Given the description of an element on the screen output the (x, y) to click on. 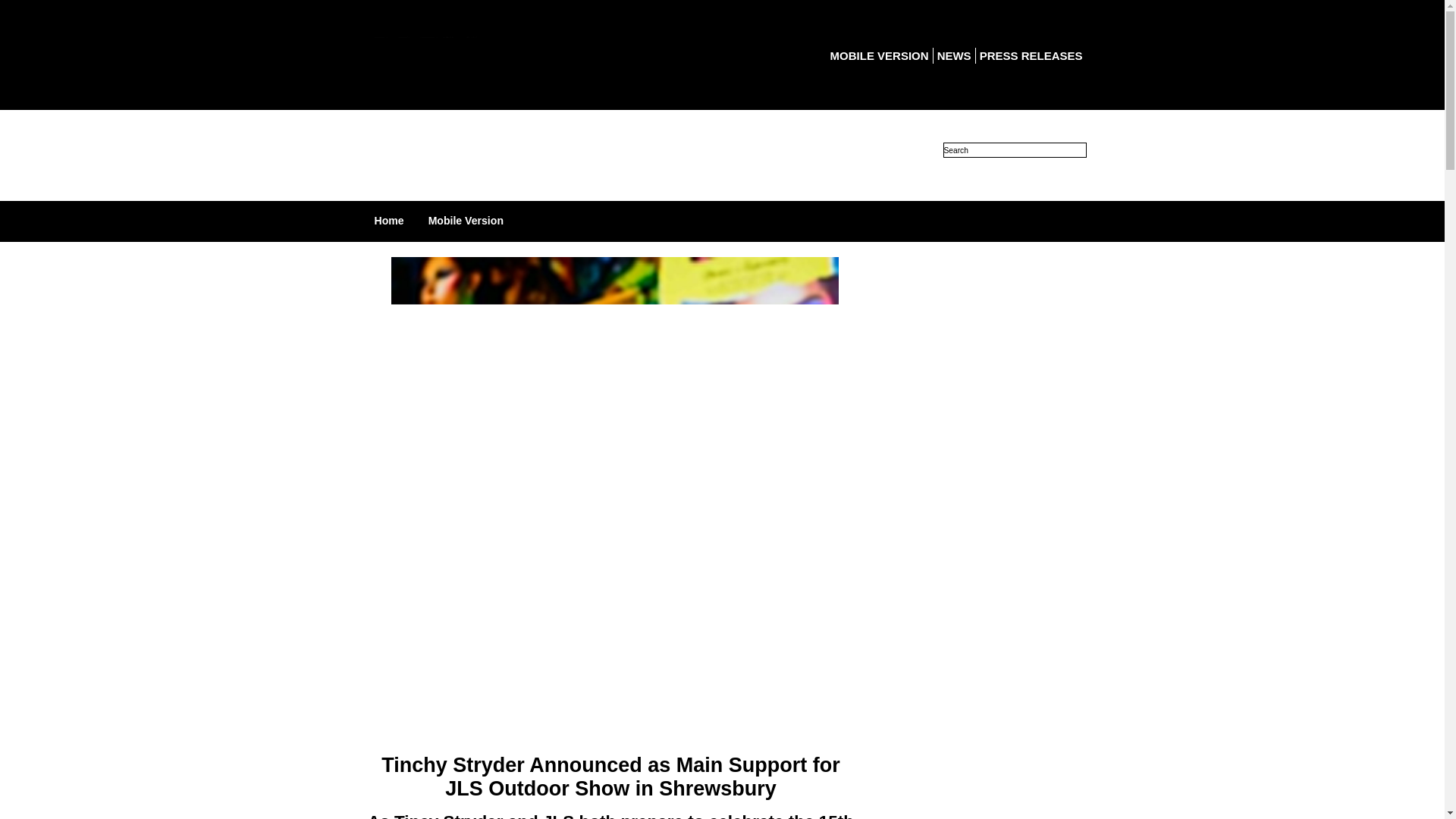
MOBILE VERSION (878, 55)
Home (389, 220)
NEWS (954, 55)
PRESS RELEASES (1031, 55)
Mobile Version (465, 220)
Search (1014, 150)
Search (1014, 150)
